Given the description of an element on the screen output the (x, y) to click on. 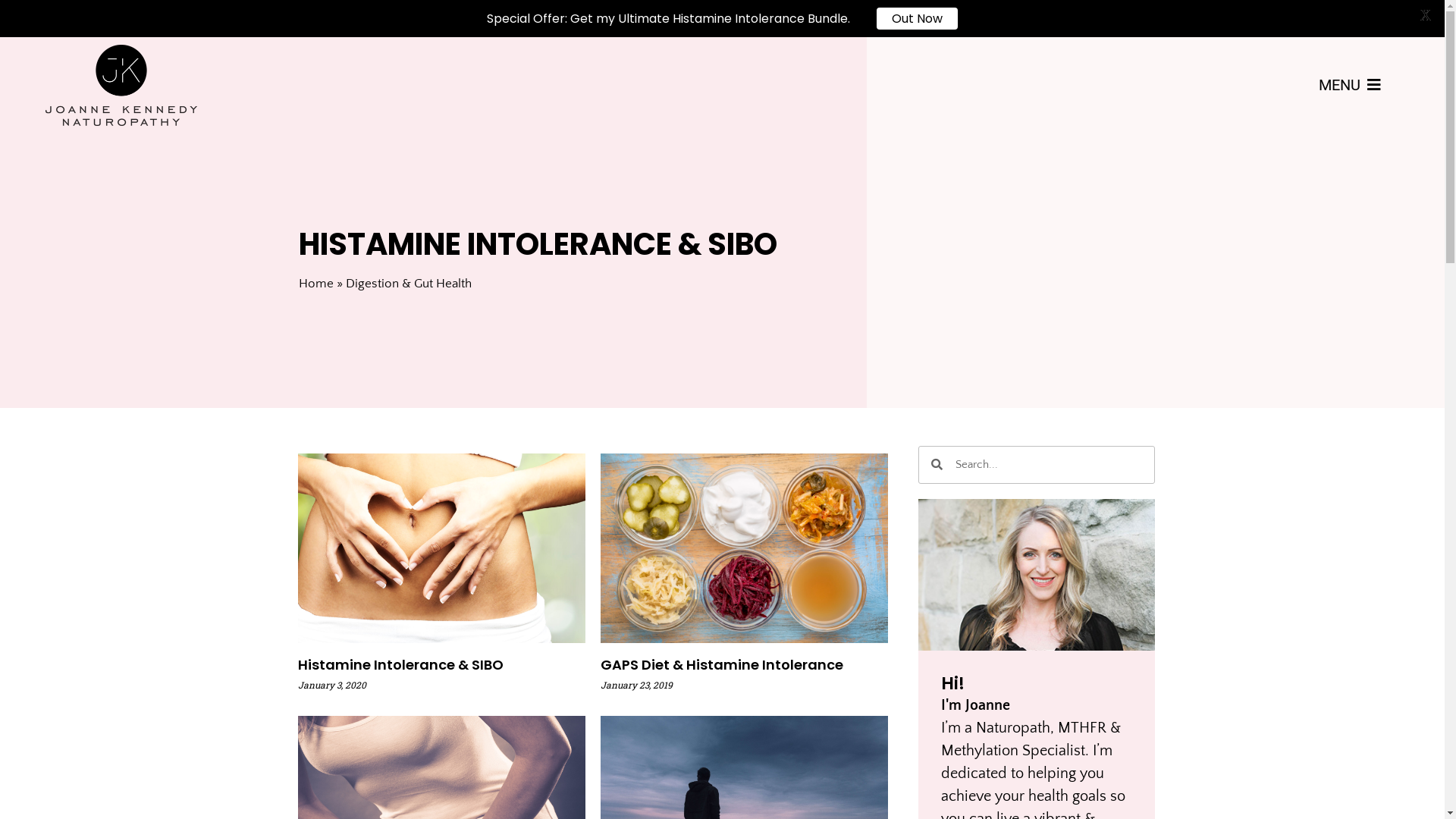
Home Element type: text (315, 283)
X Element type: text (1425, 14)
GAPS Diet & Histamine Intolerance Element type: text (721, 664)
MENU Element type: text (1349, 84)
Out Now Element type: text (916, 18)
Histamine Intolerance & SIBO Element type: text (399, 664)
